Given the description of an element on the screen output the (x, y) to click on. 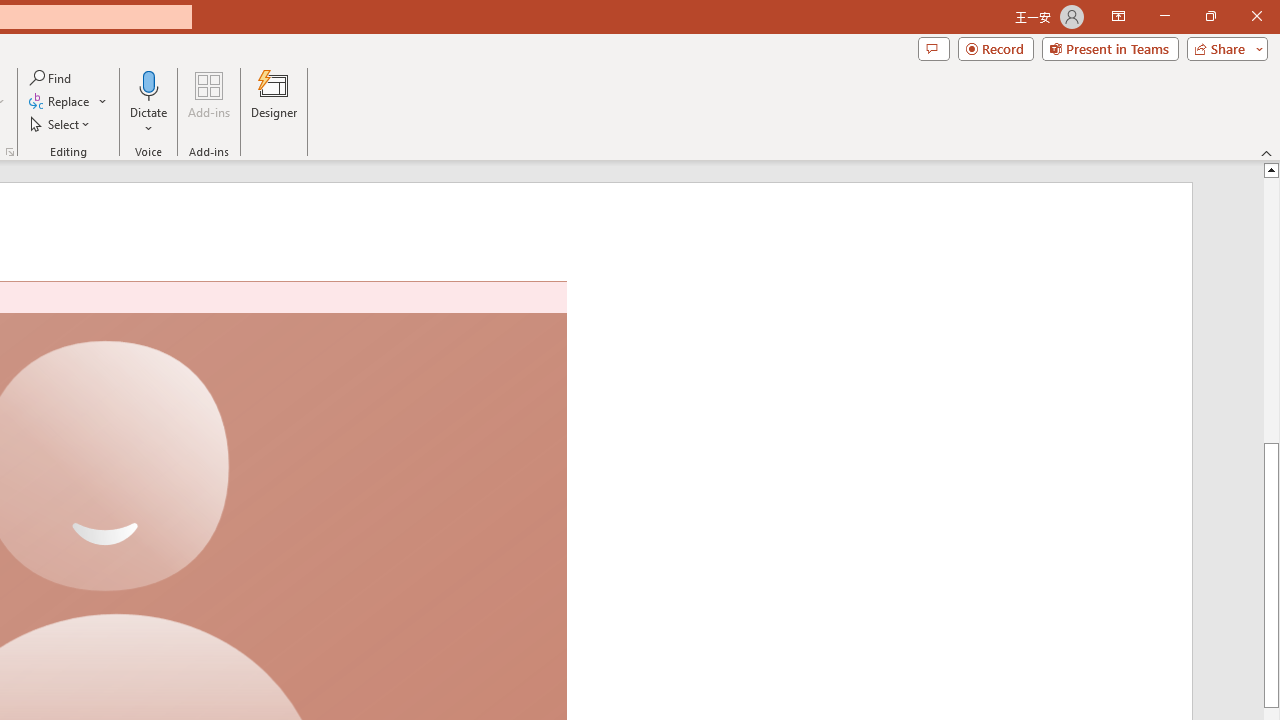
Picture Border Teal, Accent 1 (558, 78)
Shape Height (1201, 87)
Relaxed Perspective, White (221, 100)
Picture Border (603, 78)
Crop (1087, 84)
Moderate Frame, White (52, 100)
Rotated, White (108, 100)
Crop (1087, 102)
Bevel Perspective Left, White (500, 100)
